Given the description of an element on the screen output the (x, y) to click on. 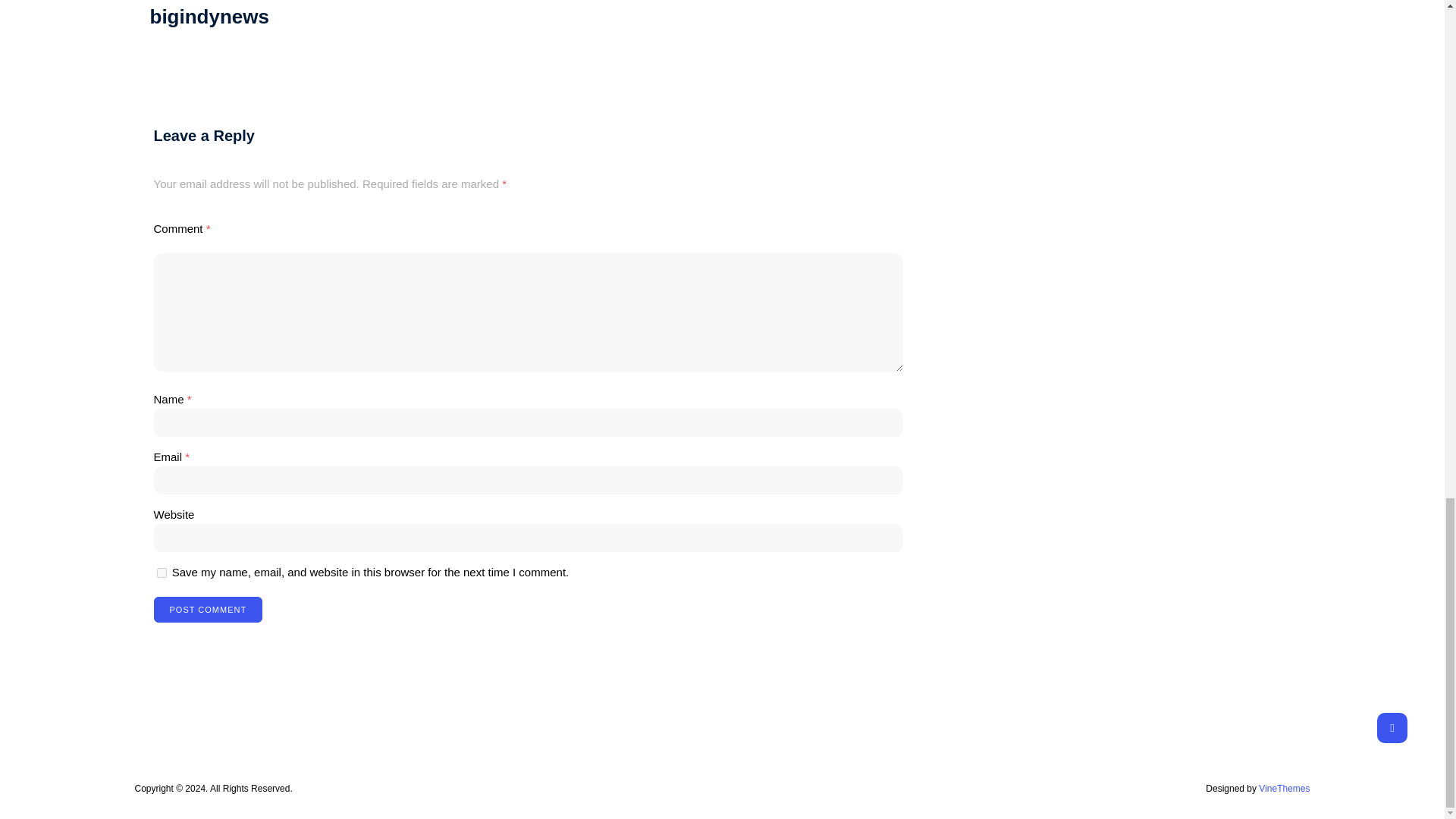
bigindynews (209, 15)
Post Comment (207, 609)
Post Comment (207, 609)
yes (160, 573)
VineThemes (1283, 787)
